Given the description of an element on the screen output the (x, y) to click on. 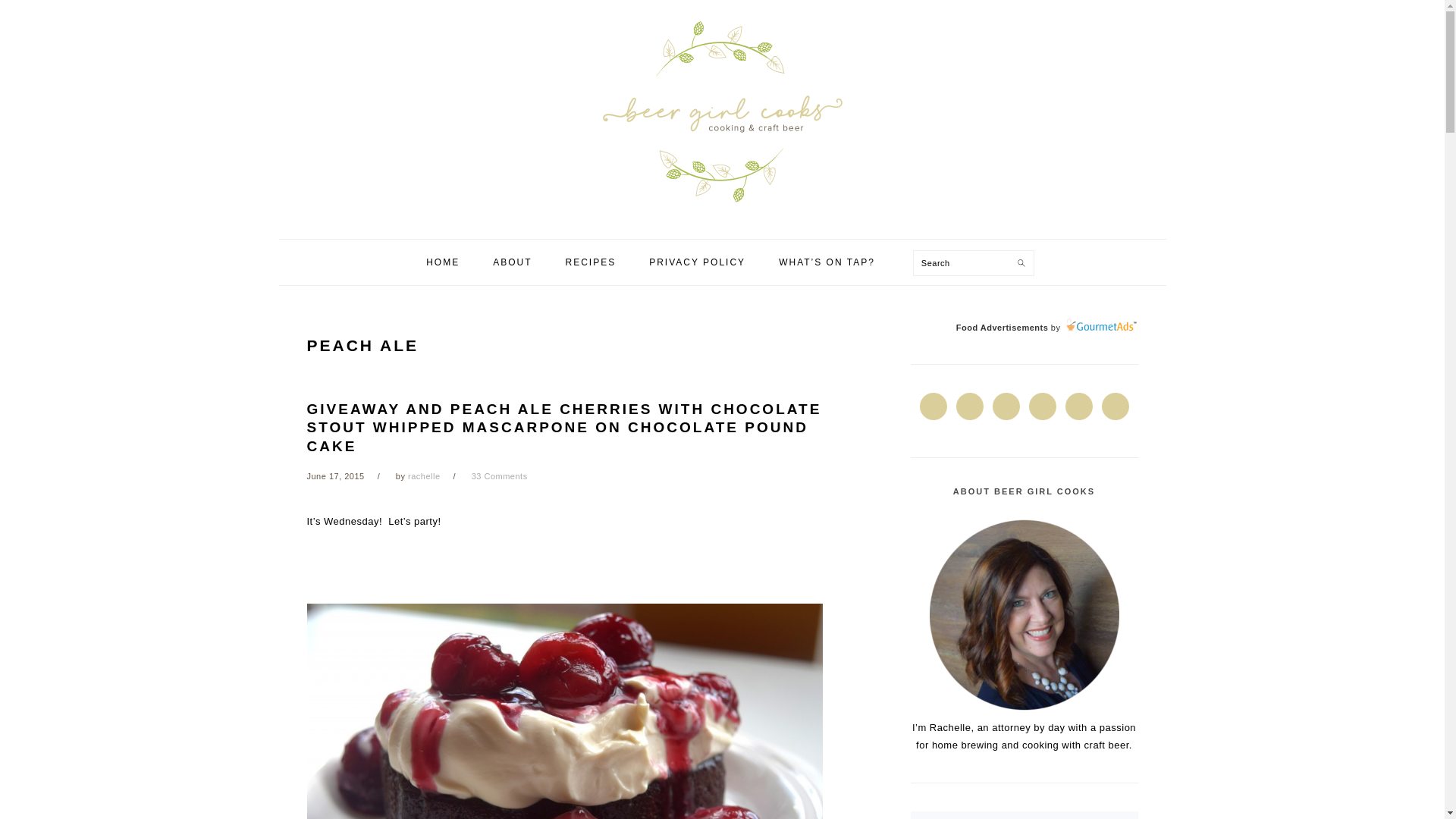
Food Advertisements (1002, 327)
PRIVACY POLICY (697, 262)
HOME (443, 262)
rachelle (424, 475)
33 Comments (499, 475)
RECIPES (590, 262)
BEER GIRL COOKS (722, 114)
ABOUT (512, 262)
